Given the description of an element on the screen output the (x, y) to click on. 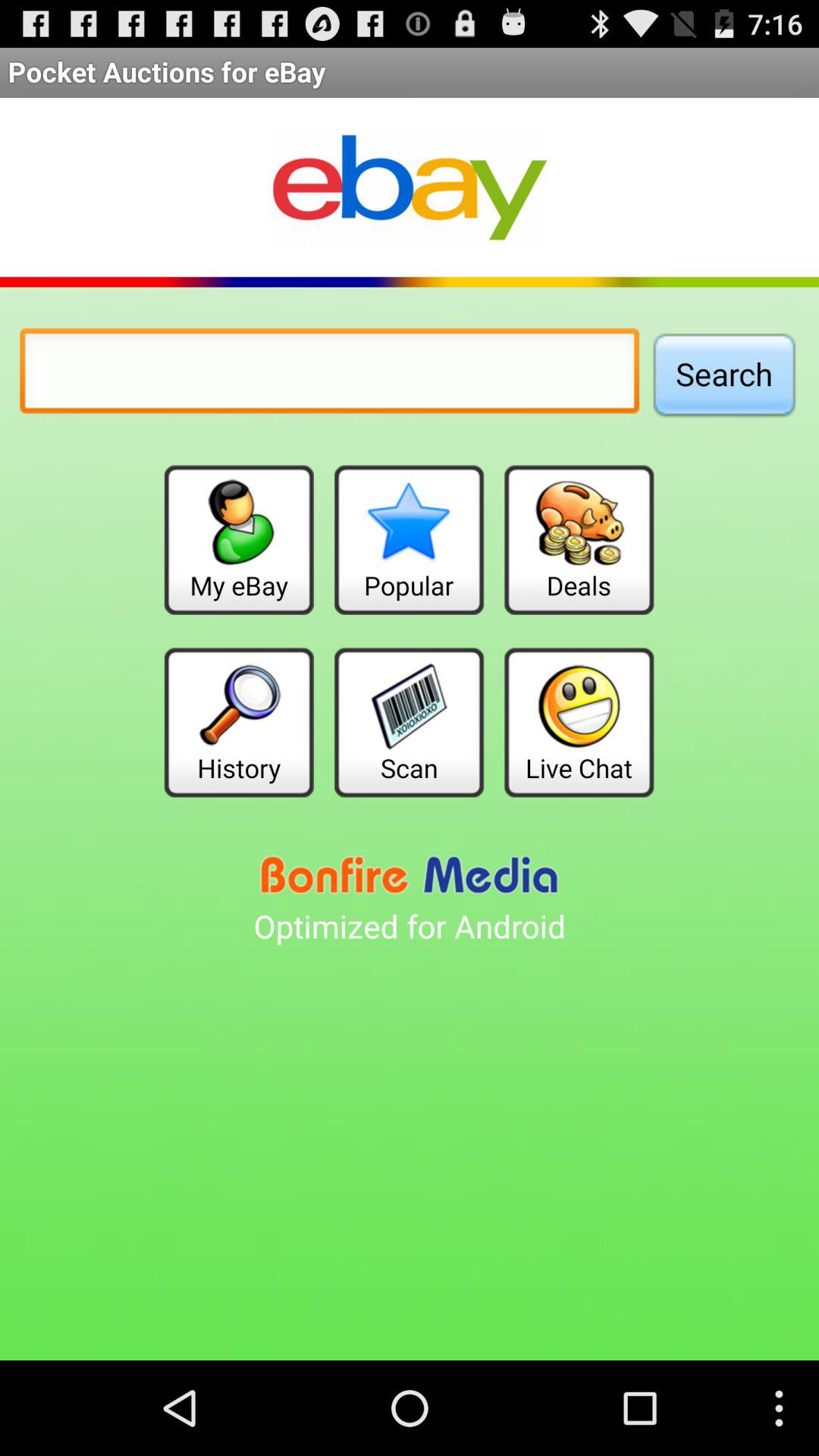
jump to the history icon (238, 722)
